Given the description of an element on the screen output the (x, y) to click on. 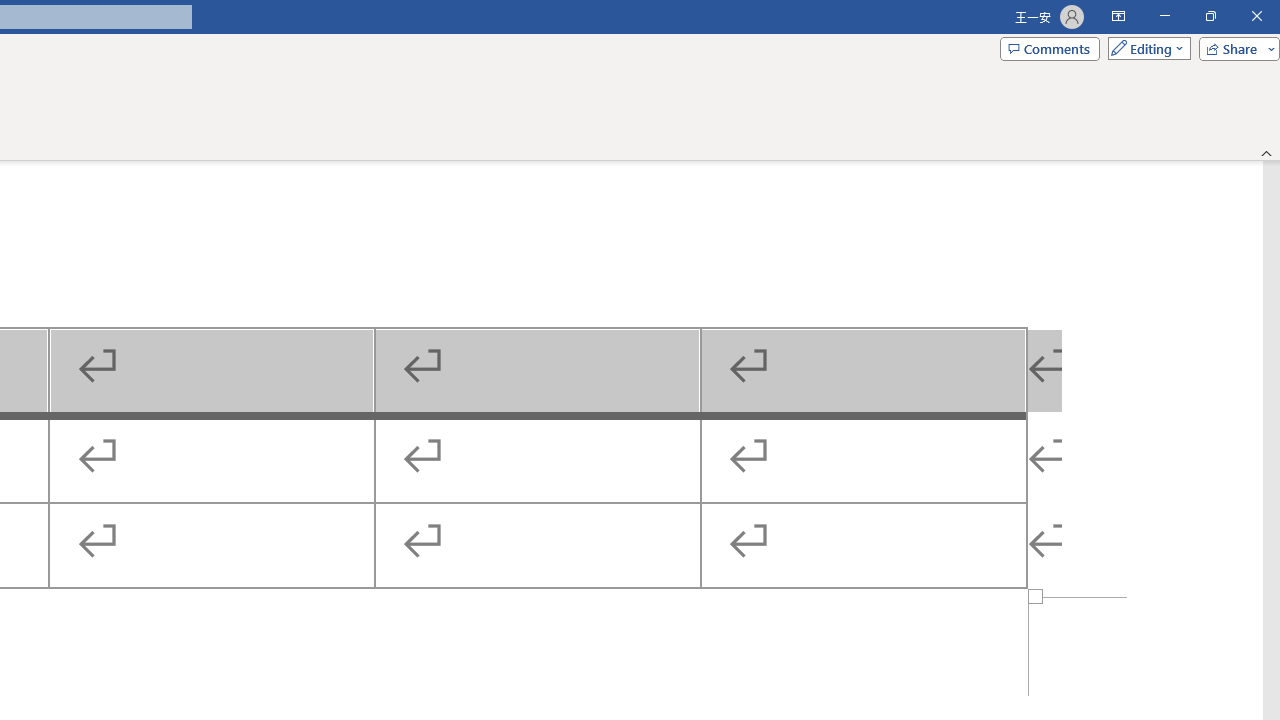
Editing (1144, 47)
